Given the description of an element on the screen output the (x, y) to click on. 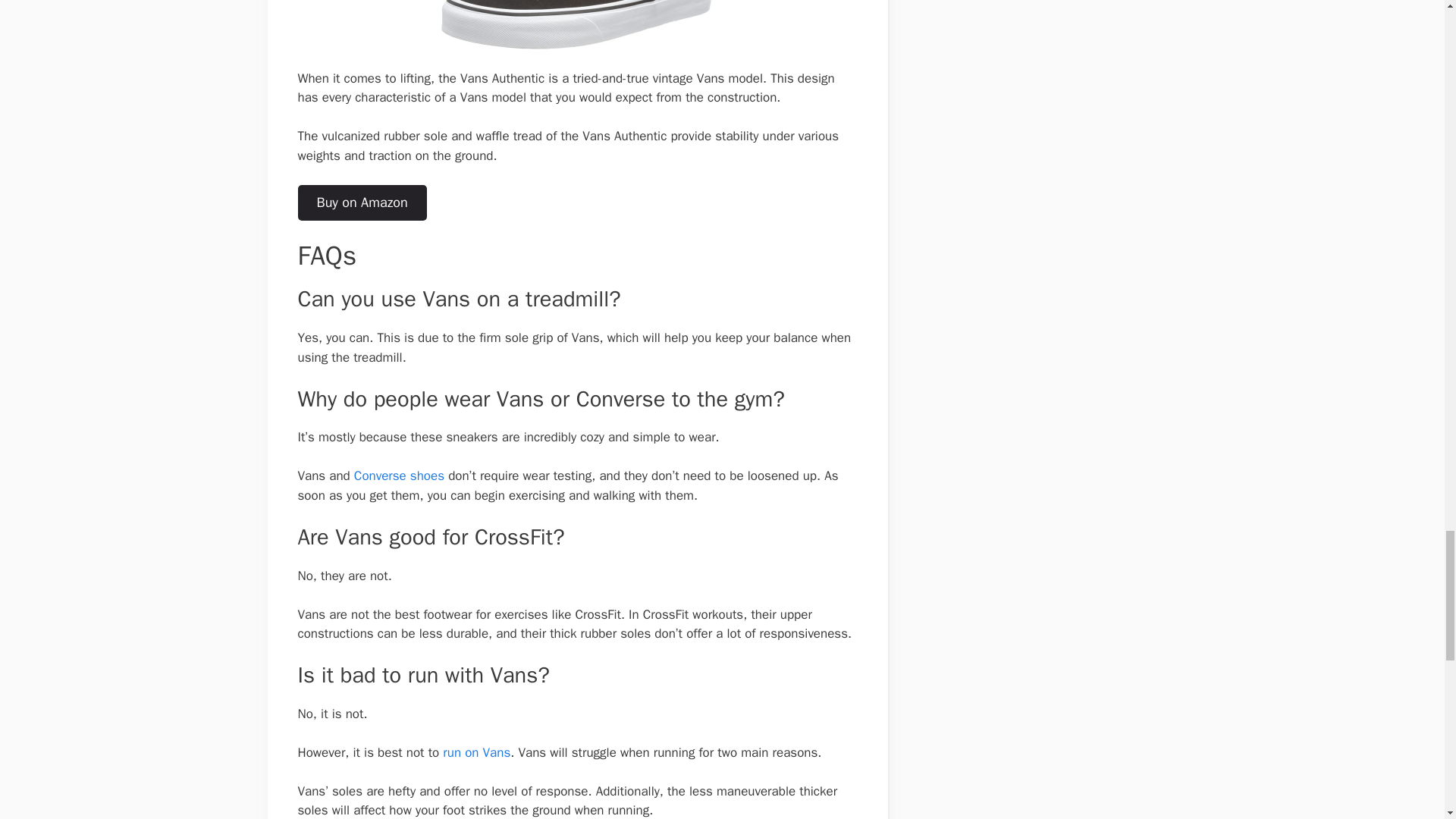
Converse shoes (398, 475)
Buy on Amazon (361, 202)
run on Vans (476, 752)
